Given the description of an element on the screen output the (x, y) to click on. 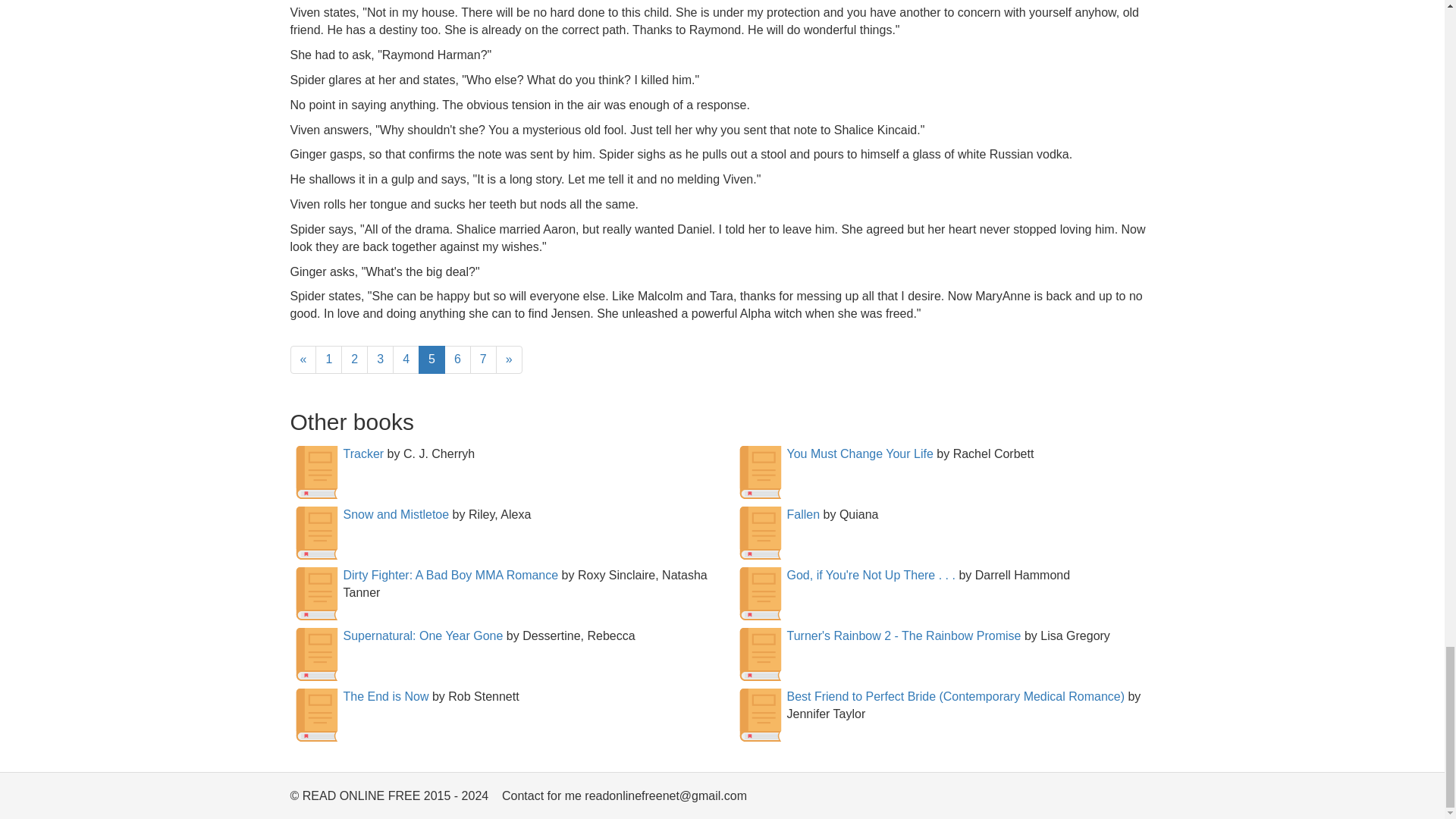
1 (328, 359)
6 (457, 359)
Tracker (363, 453)
5 (432, 359)
7 (483, 359)
The End is Now (385, 696)
LiveInternet (1142, 799)
Snow and Mistletoe (395, 513)
4 (406, 359)
3 (379, 359)
